Given the description of an element on the screen output the (x, y) to click on. 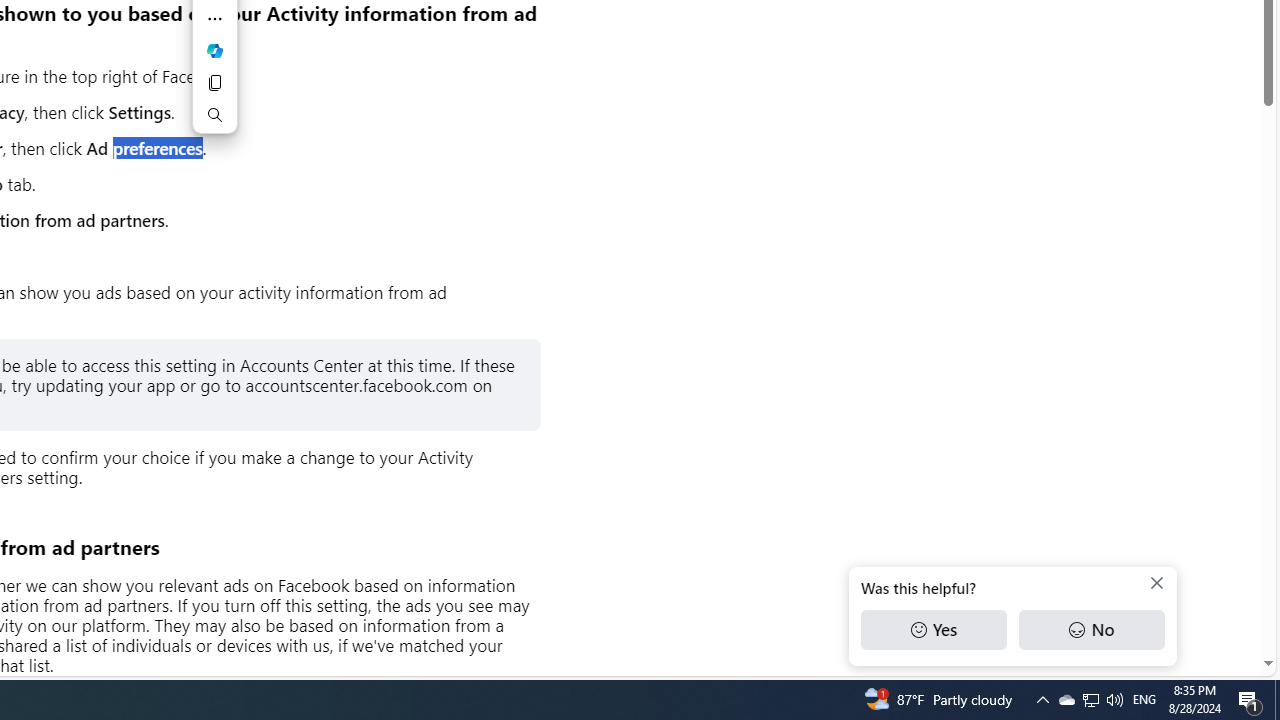
Copy (214, 82)
Yes (934, 629)
More actions (214, 18)
No (1091, 629)
Ask Copilot (214, 50)
Dismiss (1156, 583)
